Given the description of an element on the screen output the (x, y) to click on. 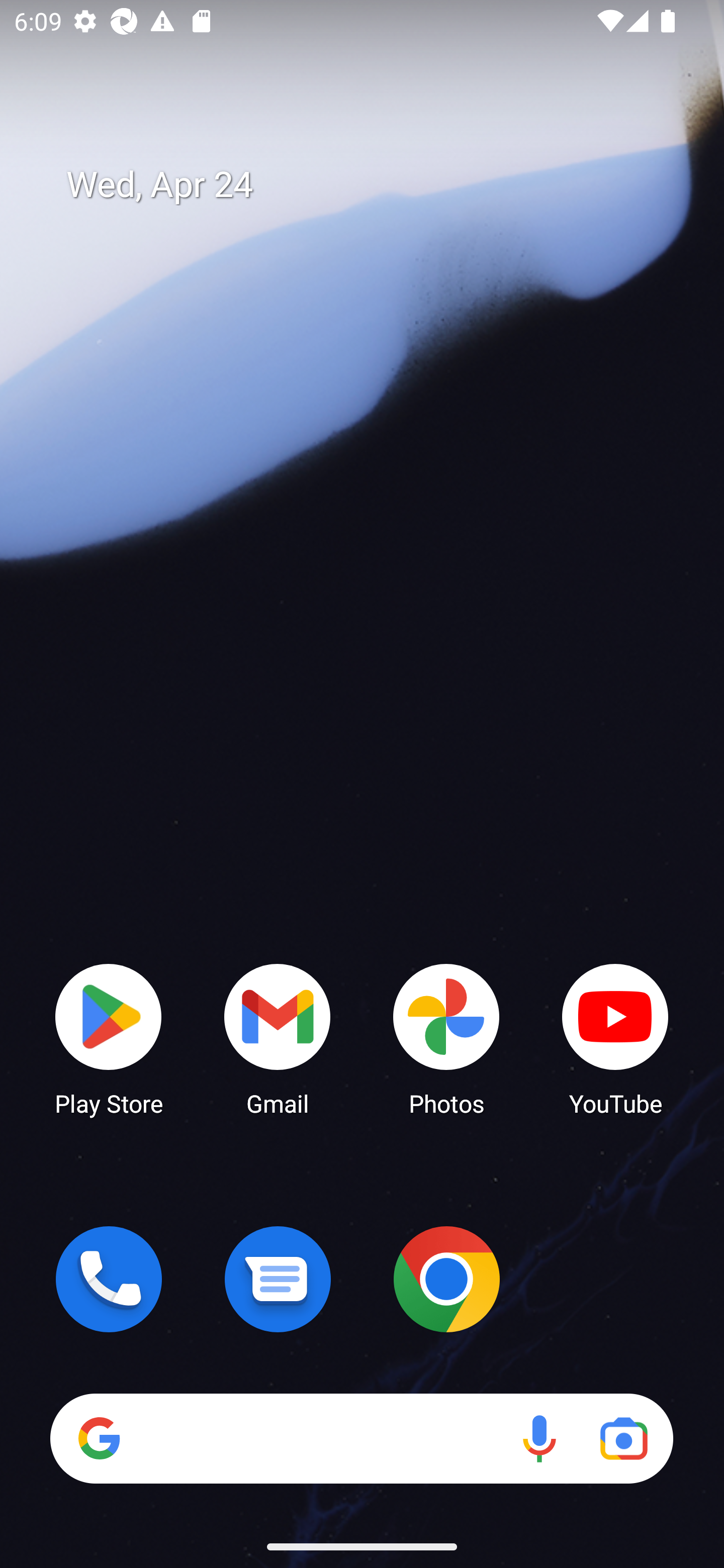
Wed, Apr 24 (375, 184)
Play Store (108, 1038)
Gmail (277, 1038)
Photos (445, 1038)
YouTube (615, 1038)
Phone (108, 1279)
Messages (277, 1279)
Chrome (446, 1279)
Search Voice search Google Lens (361, 1438)
Voice search (539, 1438)
Google Lens (623, 1438)
